Given the description of an element on the screen output the (x, y) to click on. 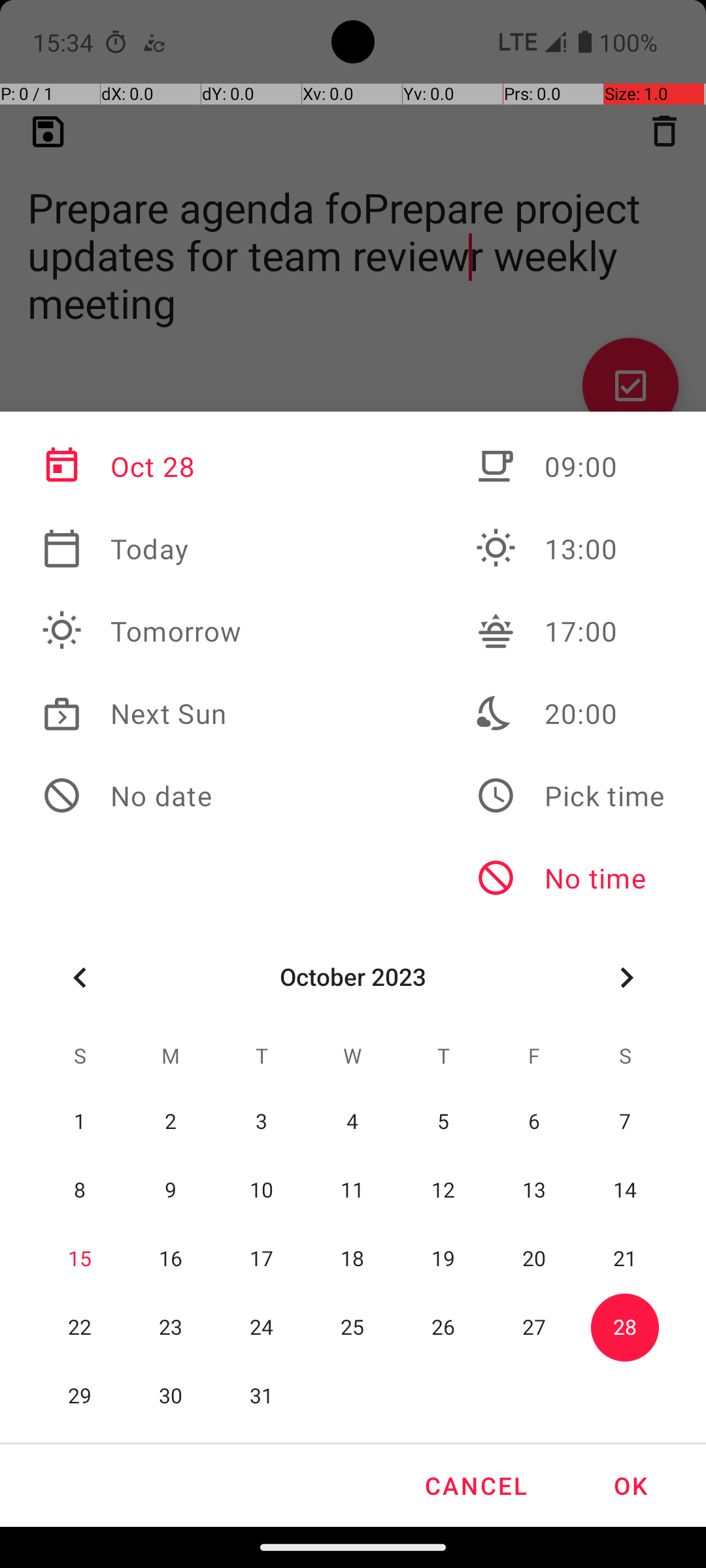
Oct 28 Element type: android.widget.CompoundButton (141, 466)
